Given the description of an element on the screen output the (x, y) to click on. 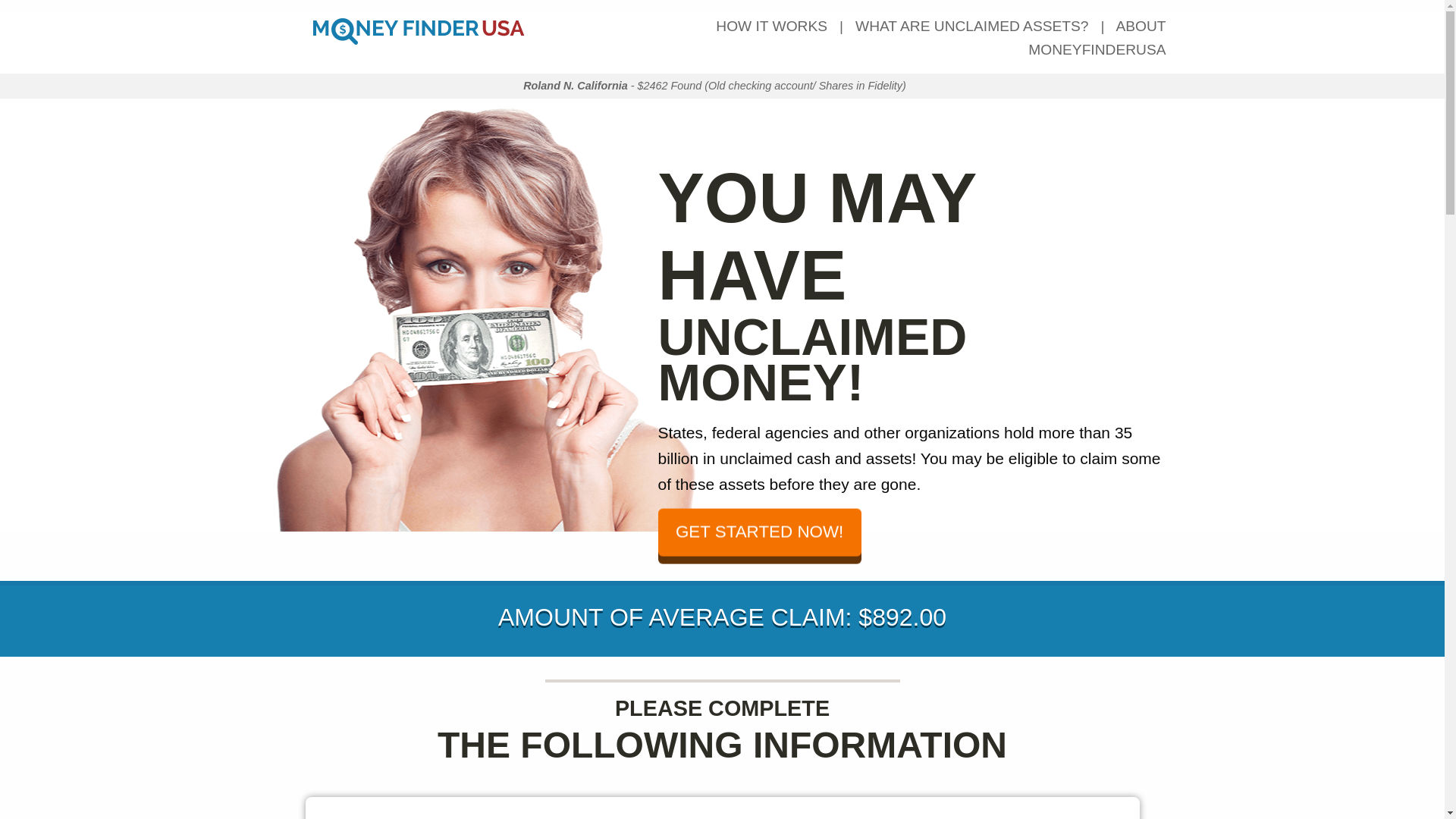
ABOUT MONEYFINDERUSA (1096, 37)
GET STARTED NOW! (765, 537)
HOW IT WORKS (771, 26)
GET STARTED NOW! (759, 528)
WHAT ARE UNCLAIMED ASSETS? (971, 26)
